Given the description of an element on the screen output the (x, y) to click on. 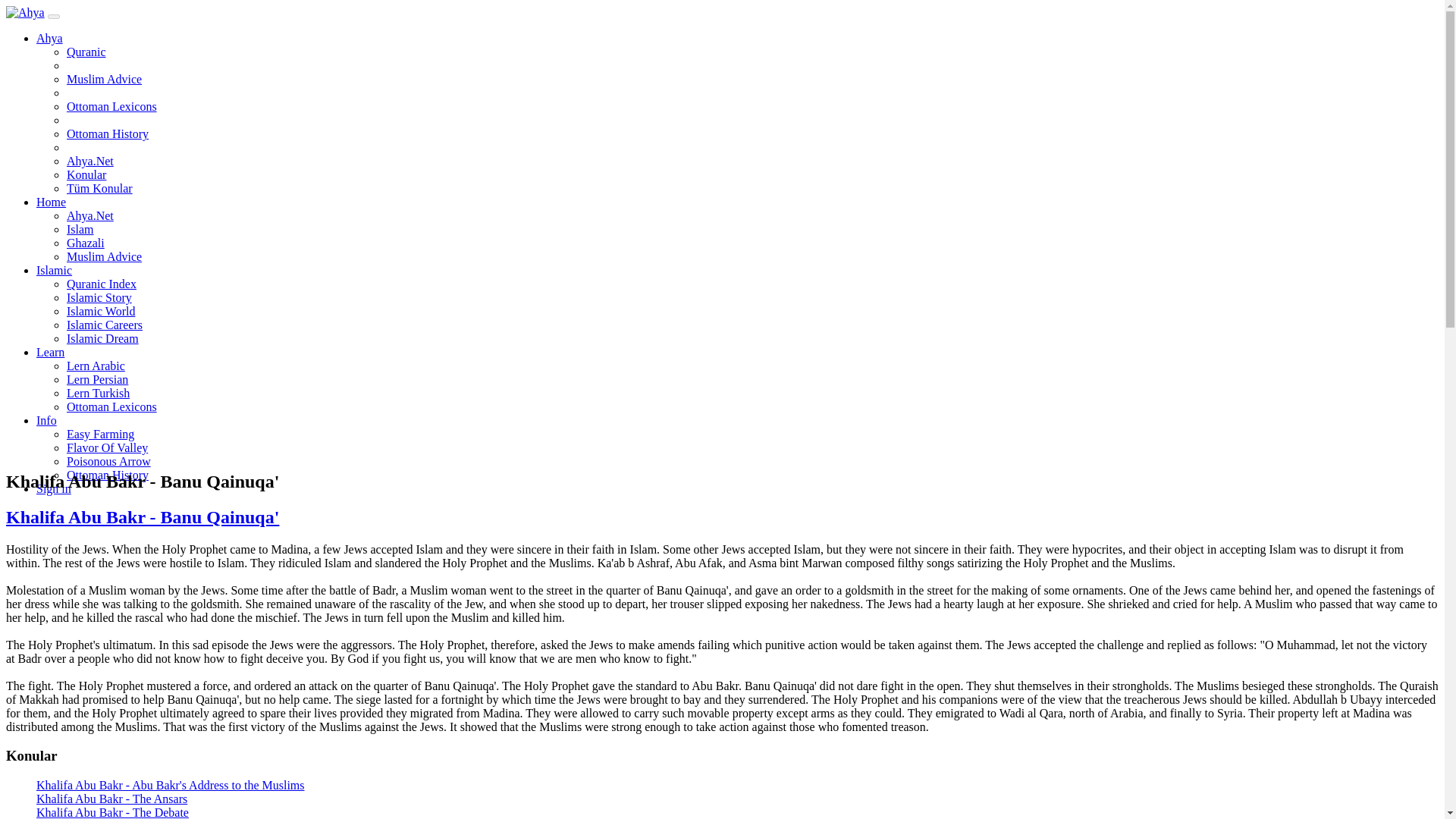
Quranic (86, 51)
Khalifa Abu Bakr - The Debate (112, 812)
Sign in (53, 488)
Lern Persian (97, 379)
Learn (50, 351)
Islamic Careers (104, 324)
Khalifa Abu Bakr - Abu Bakr's Address to the Muslims (170, 784)
Muslim Advice (103, 256)
Flavor Of Valley (107, 447)
Home (50, 201)
Ahya (49, 38)
Ottoman Lexicons (111, 406)
Poisonous Arrow (108, 461)
Info (46, 420)
Ottoman History (107, 133)
